Given the description of an element on the screen output the (x, y) to click on. 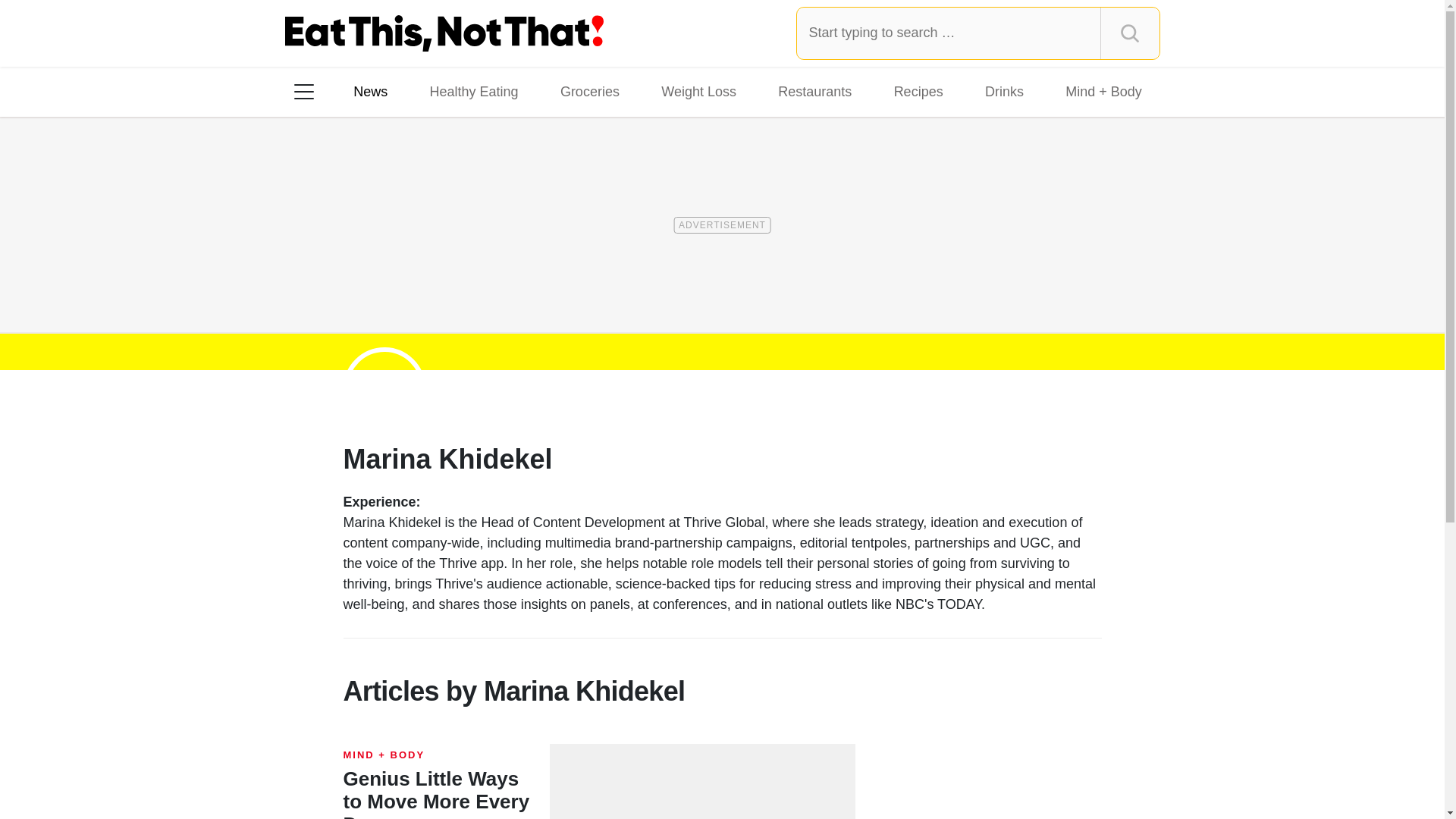
TikTok (399, 287)
Instagram (357, 287)
Healthy Eating (473, 91)
Pinterest (443, 287)
Facebook (314, 287)
Drinks (1003, 91)
Eat This Not That Homepage (444, 33)
Groceries (590, 91)
Restaurants (814, 91)
News (370, 91)
